Given the description of an element on the screen output the (x, y) to click on. 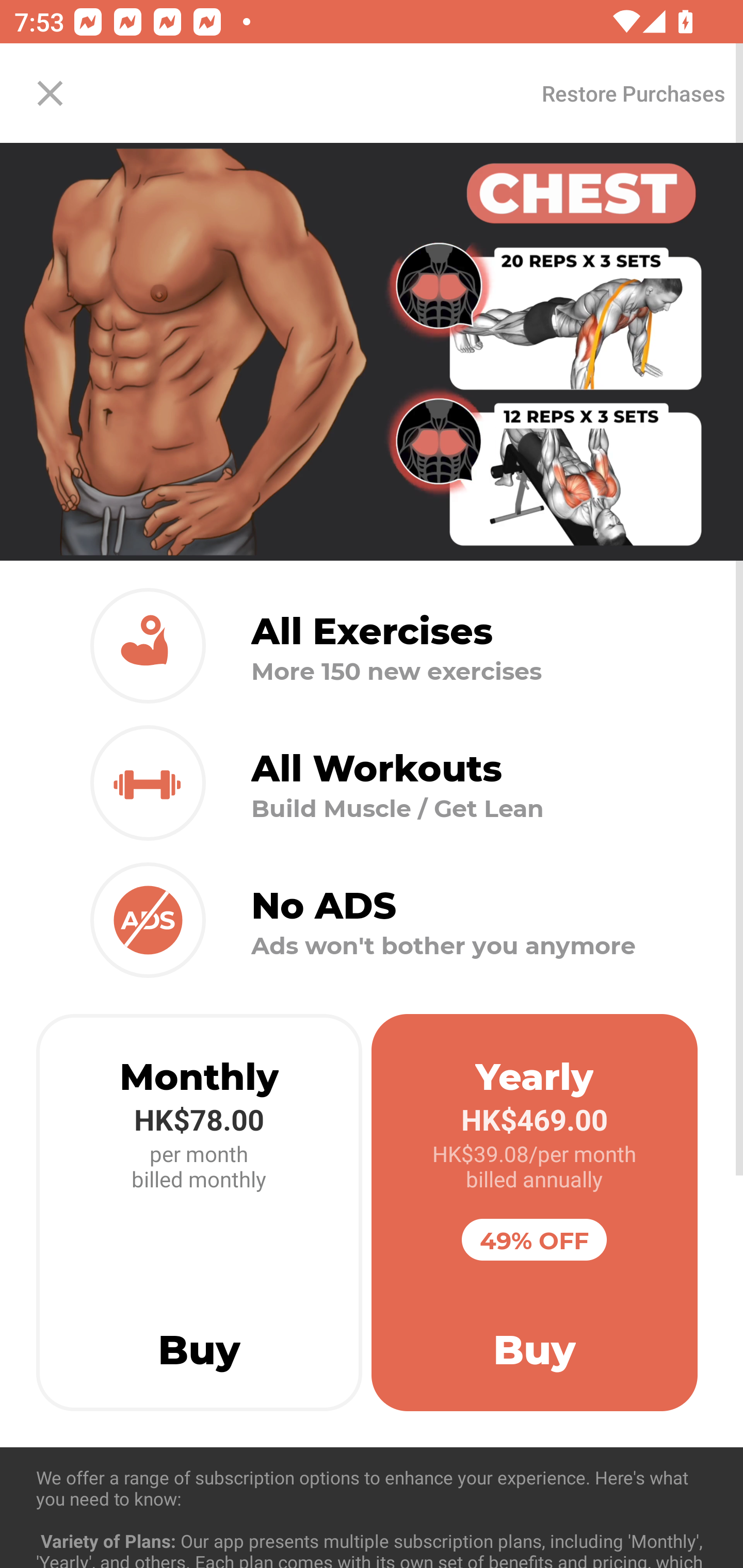
Restore Purchases (632, 92)
Monthly HK$78.00 per month
billed monthly Buy (199, 1212)
